Given the description of an element on the screen output the (x, y) to click on. 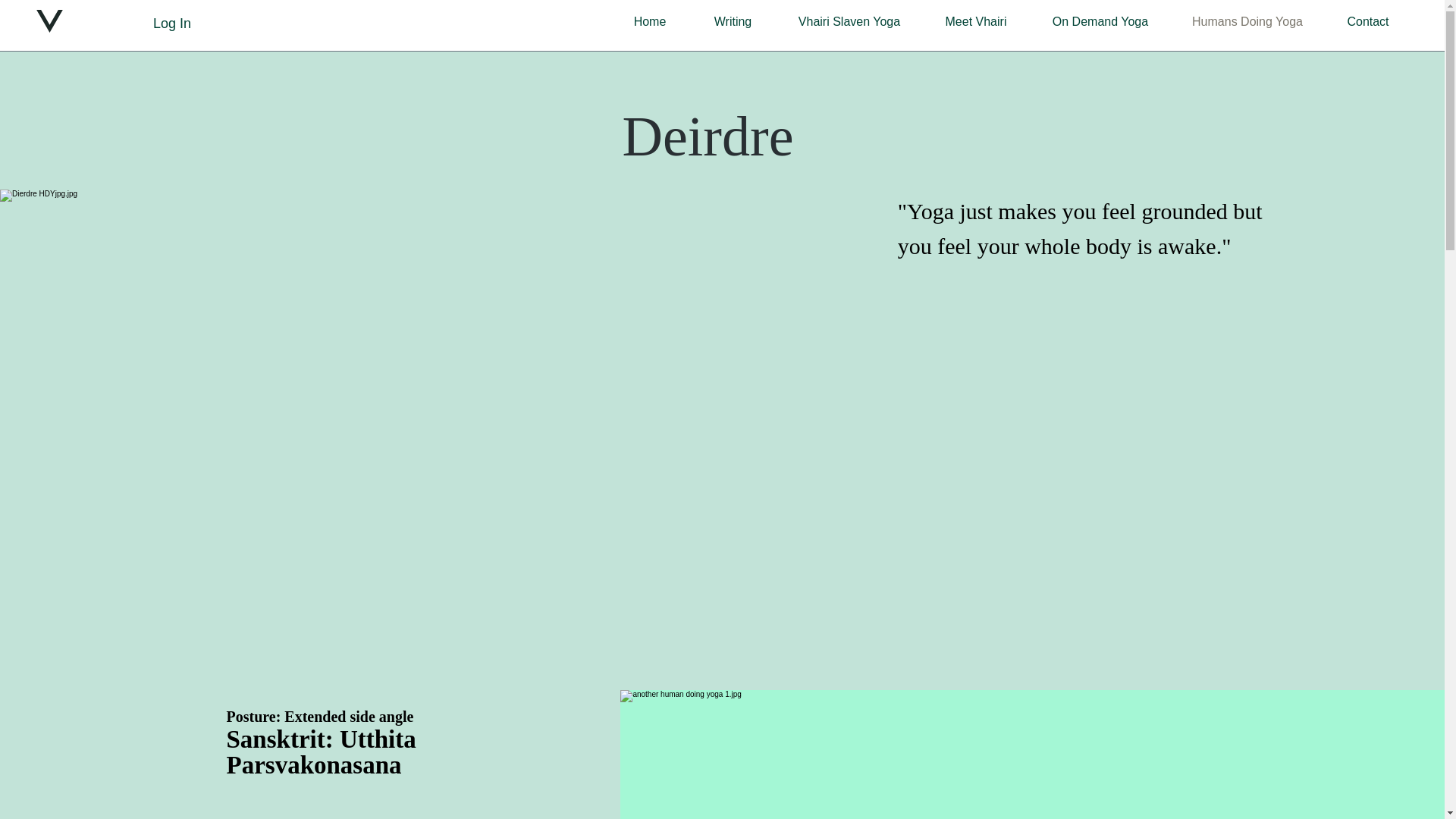
Vhairi Slaven Yoga (848, 22)
On Demand Yoga (1099, 22)
Contact (1367, 22)
Home (649, 22)
Writing (732, 22)
Meet Vhairi (975, 22)
Humans Doing Yoga (1246, 22)
Log In (172, 23)
